Given the description of an element on the screen output the (x, y) to click on. 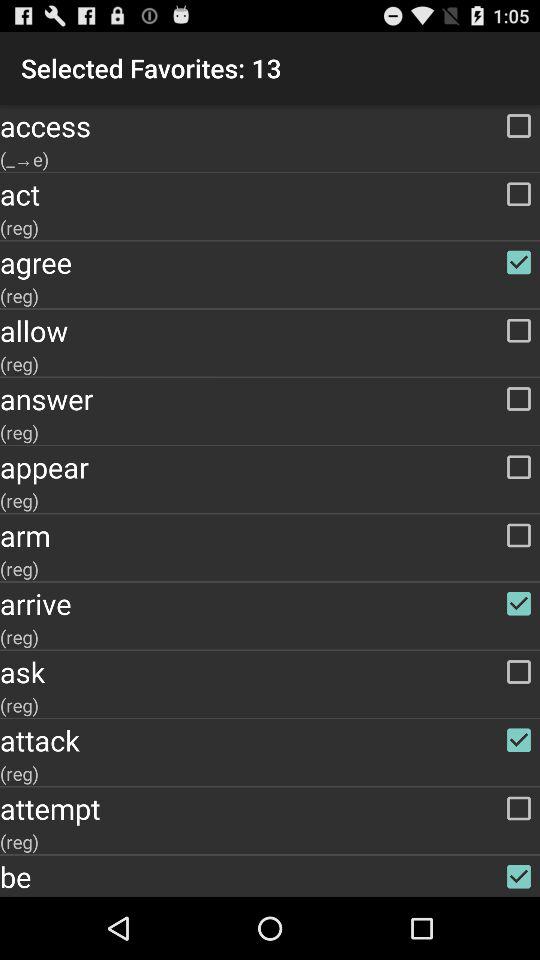
click the attack (270, 740)
